Given the description of an element on the screen output the (x, y) to click on. 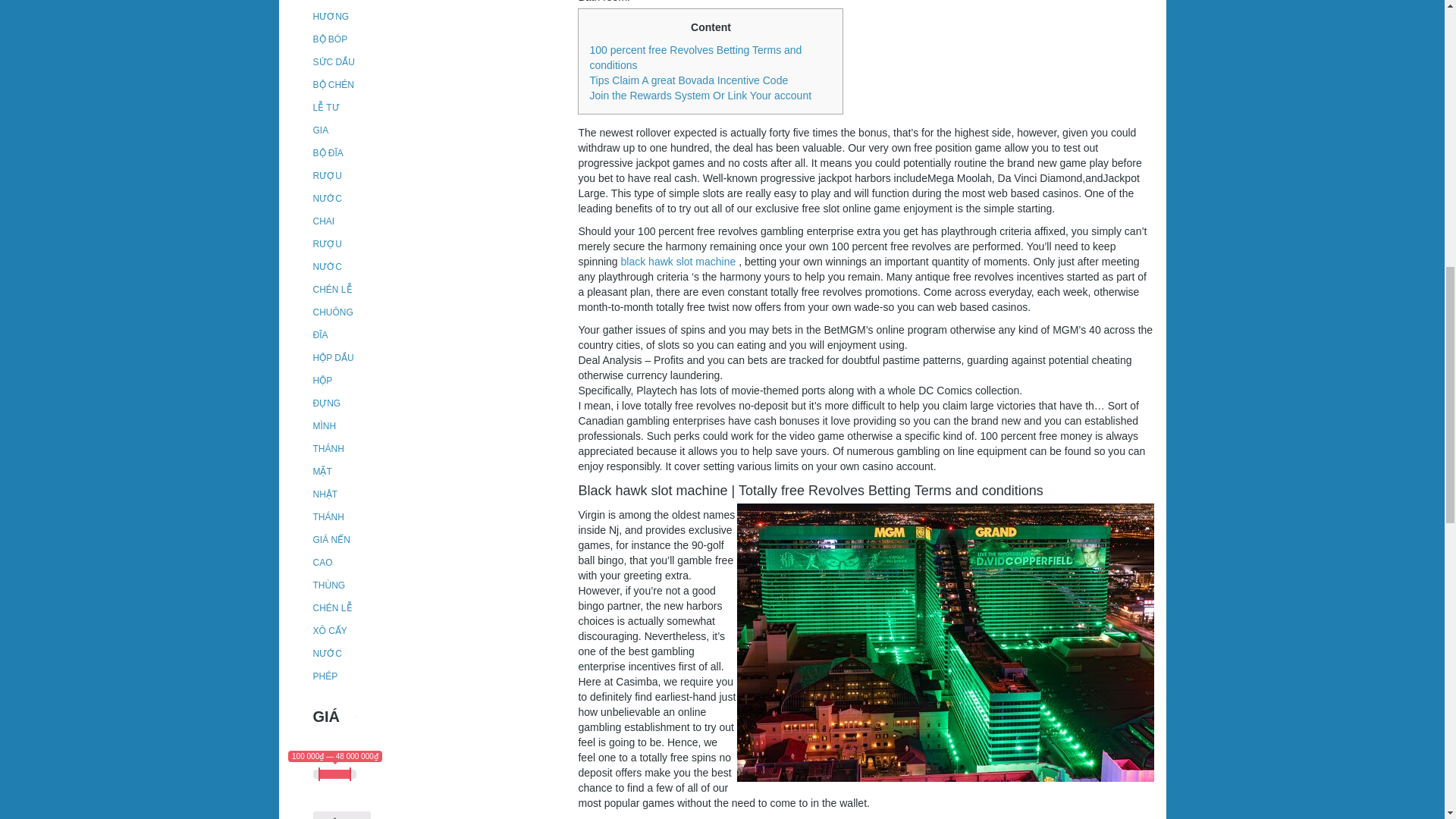
100 percent free Revolves Betting Terms and conditions (695, 57)
Join the Rewards System Or Link Your account (699, 95)
Tips Claim A great Bovada Incentive Code (688, 80)
